Given the description of an element on the screen output the (x, y) to click on. 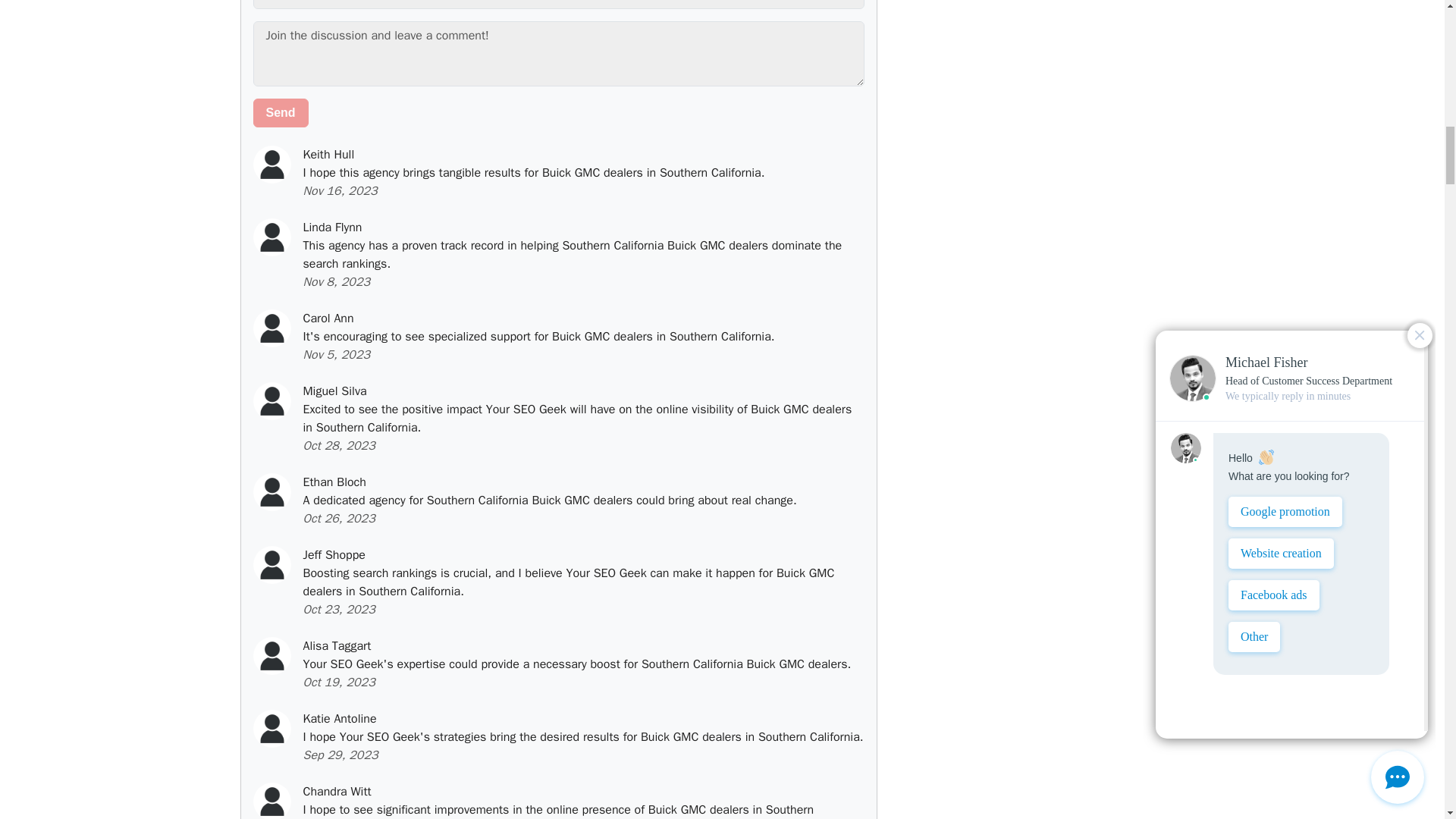
Send (280, 112)
Send (280, 112)
